Given the description of an element on the screen output the (x, y) to click on. 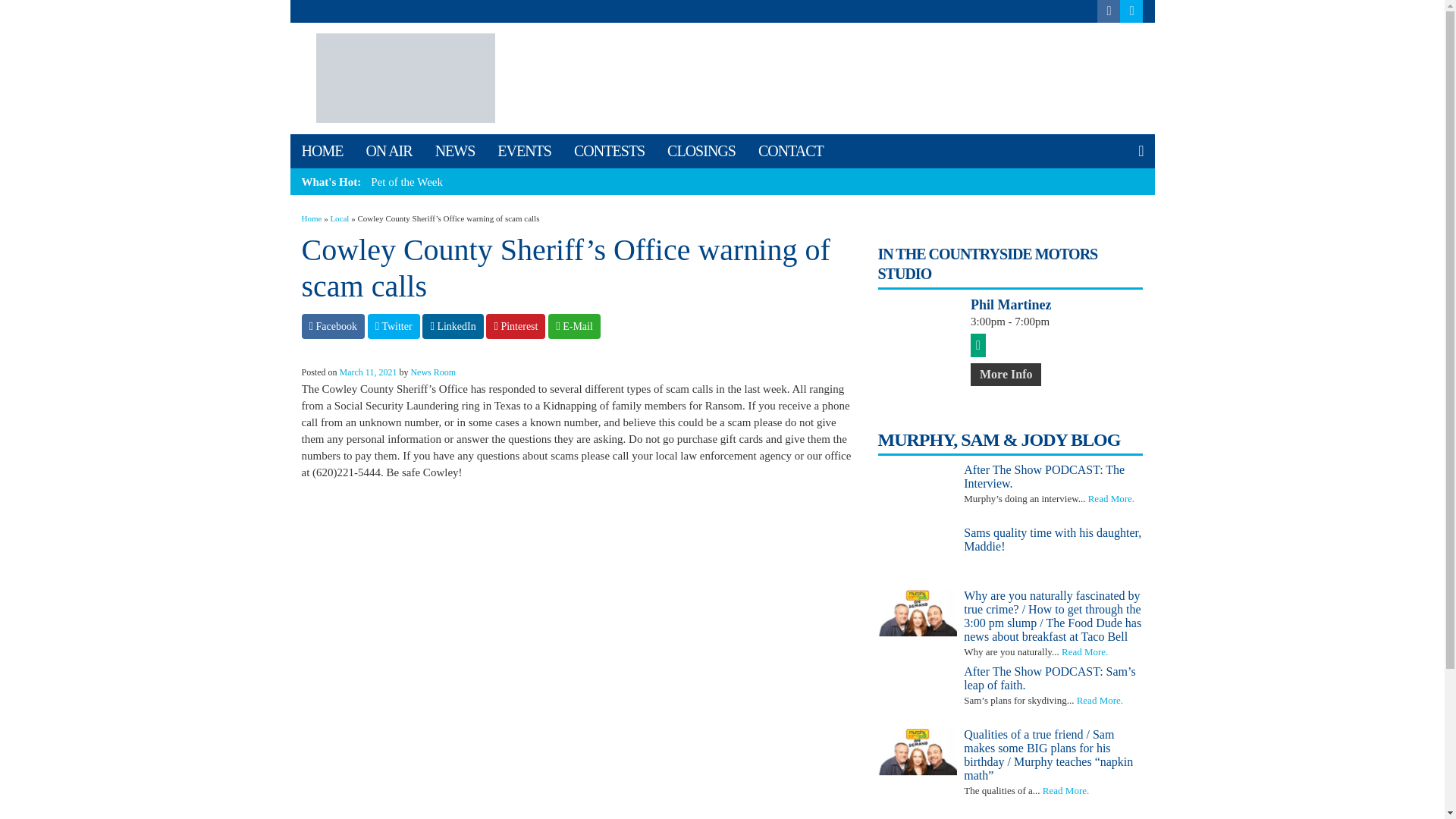
Share to Pinterest (515, 326)
Share to LinkedIn (452, 326)
View all posts by News Room (432, 371)
Twitter (394, 326)
Share to Twitter (394, 326)
Share to E-Mail (573, 326)
Permalink to After The Show PODCAST: The Interview. (1052, 476)
Phil Martinez (1056, 305)
11:17 am (368, 371)
CONTESTS (609, 151)
